Given the description of an element on the screen output the (x, y) to click on. 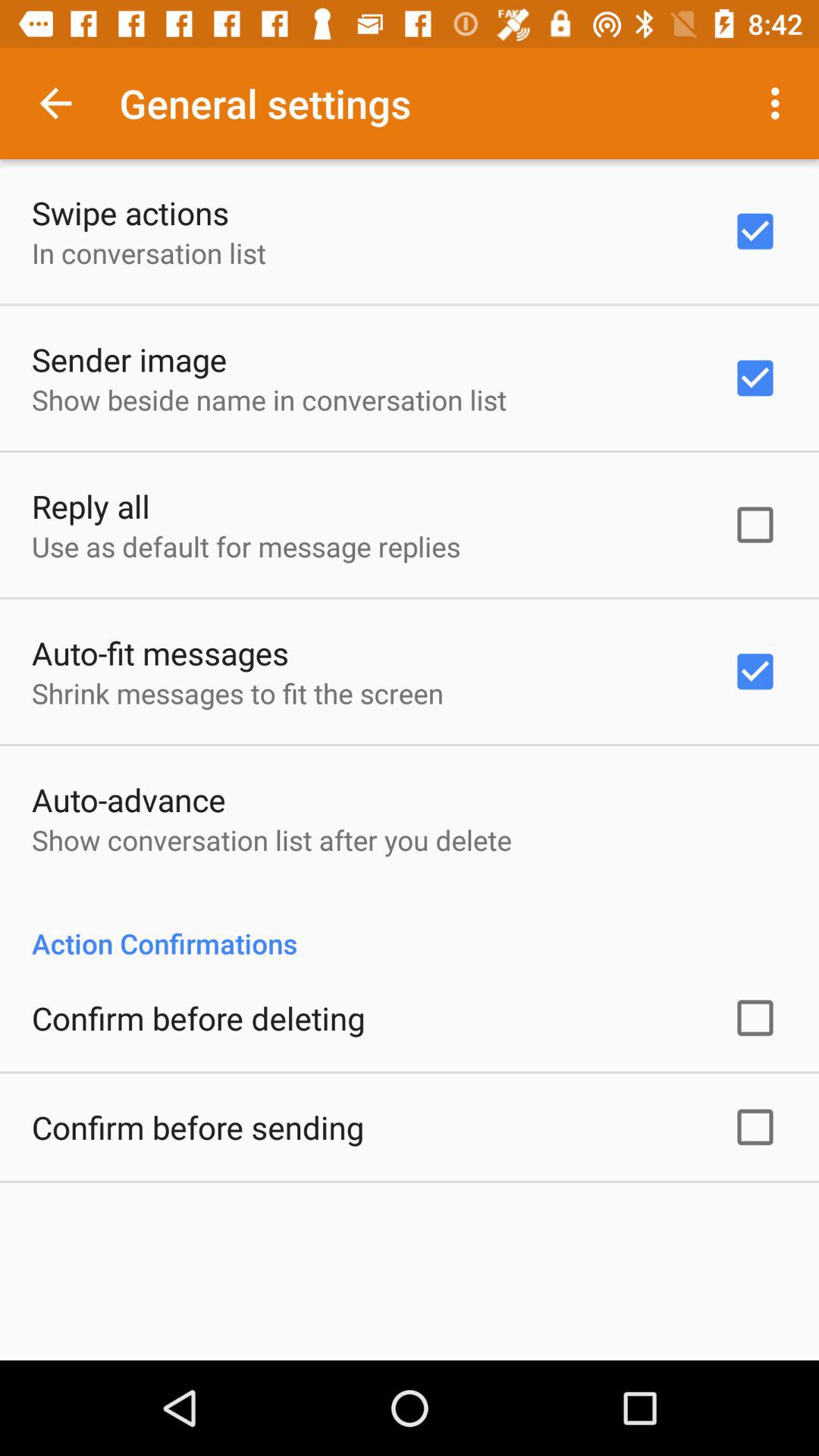
choose item below reply all item (245, 546)
